Given the description of an element on the screen output the (x, y) to click on. 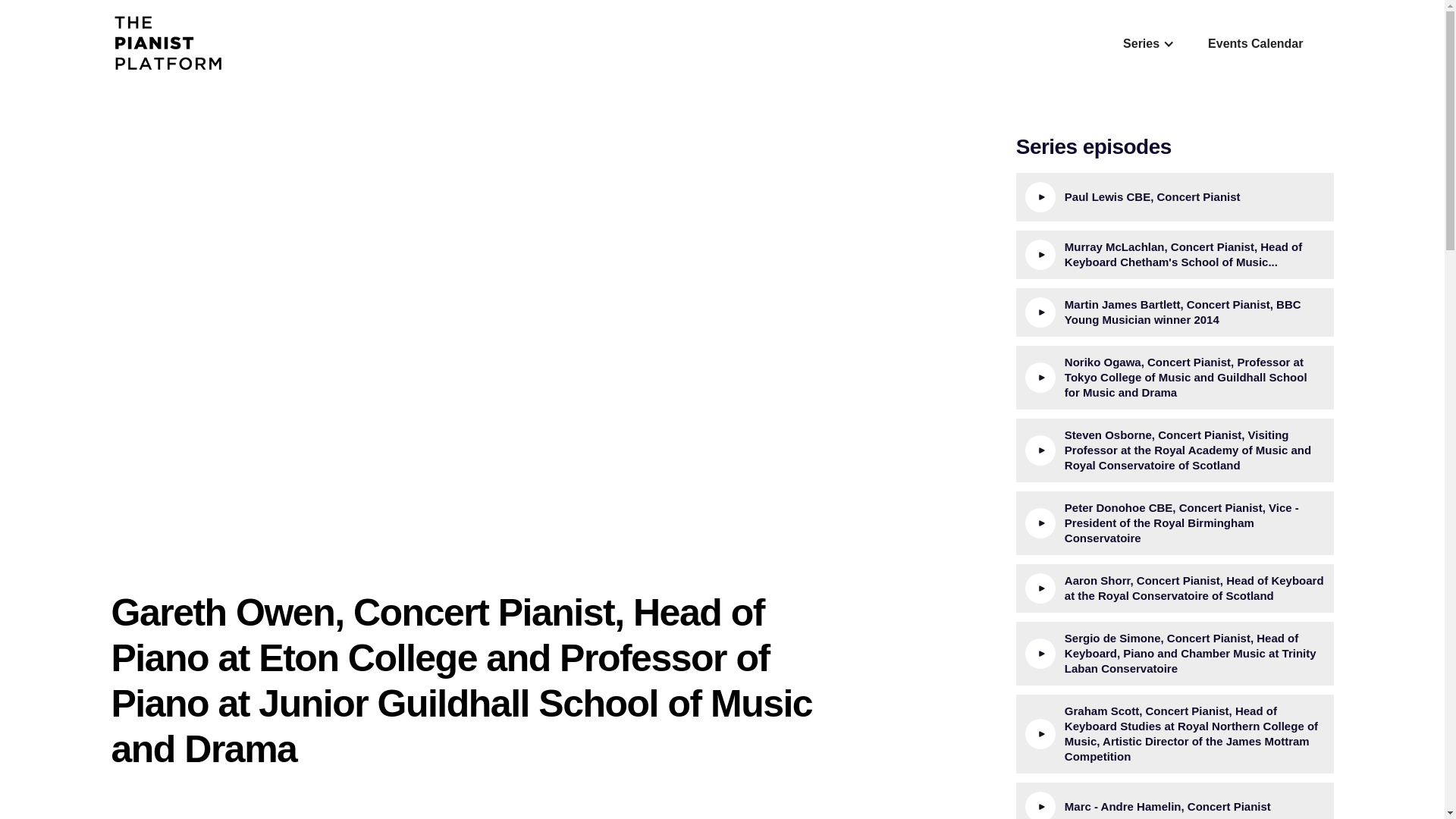
Marc - Andre Hamelin, Concert Pianist (1174, 800)
Paul Lewis CBE, Concert Pianist (1174, 196)
Events Calendar (1261, 44)
Episode notes (156, 818)
